Given the description of an element on the screen output the (x, y) to click on. 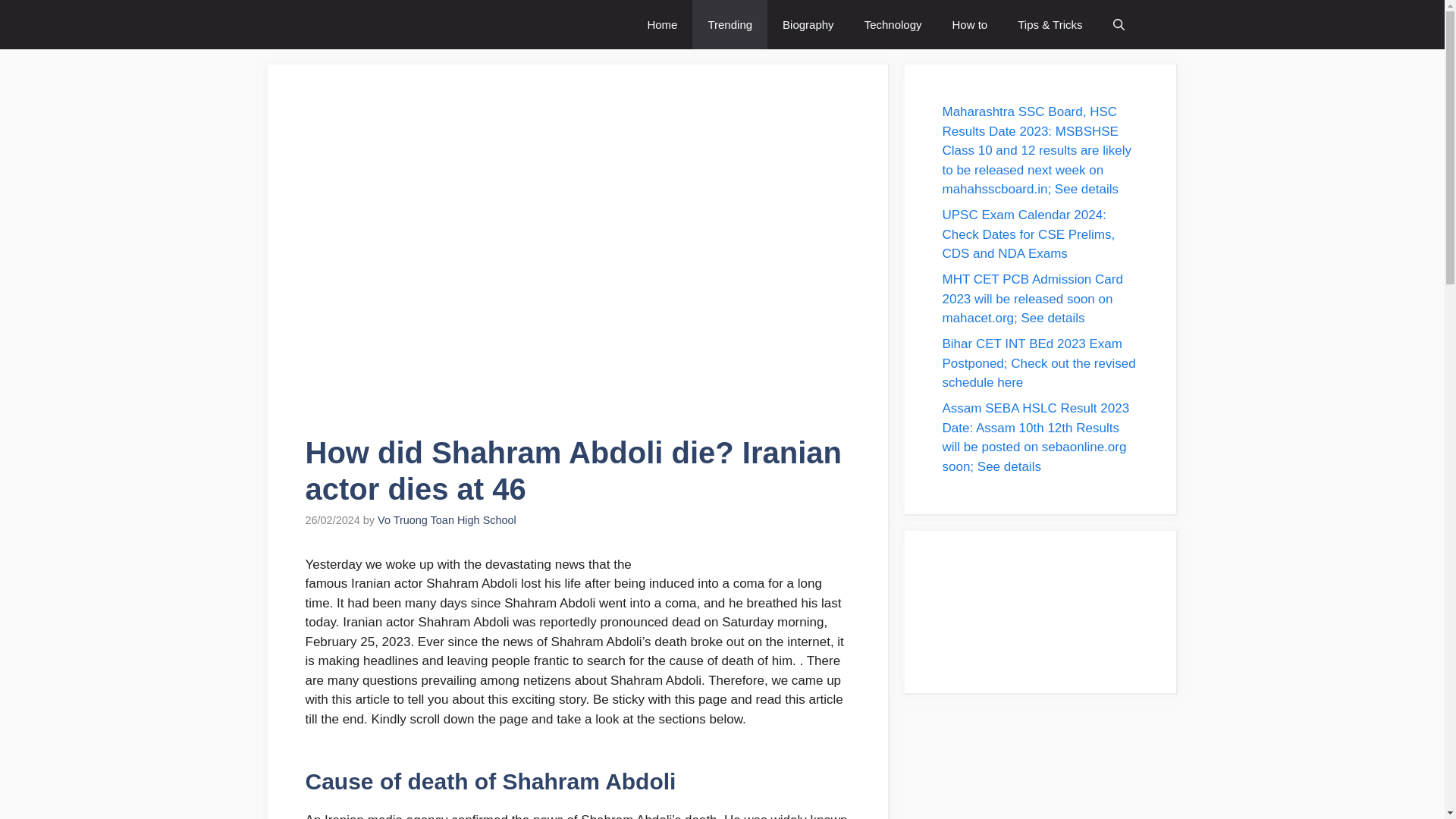
Technology (892, 24)
Trending (730, 24)
View all posts by Vo Truong Toan High School (446, 520)
Vo Truong Toan High School (446, 520)
How to (970, 24)
Biography (807, 24)
Home (662, 24)
